Given the description of an element on the screen output the (x, y) to click on. 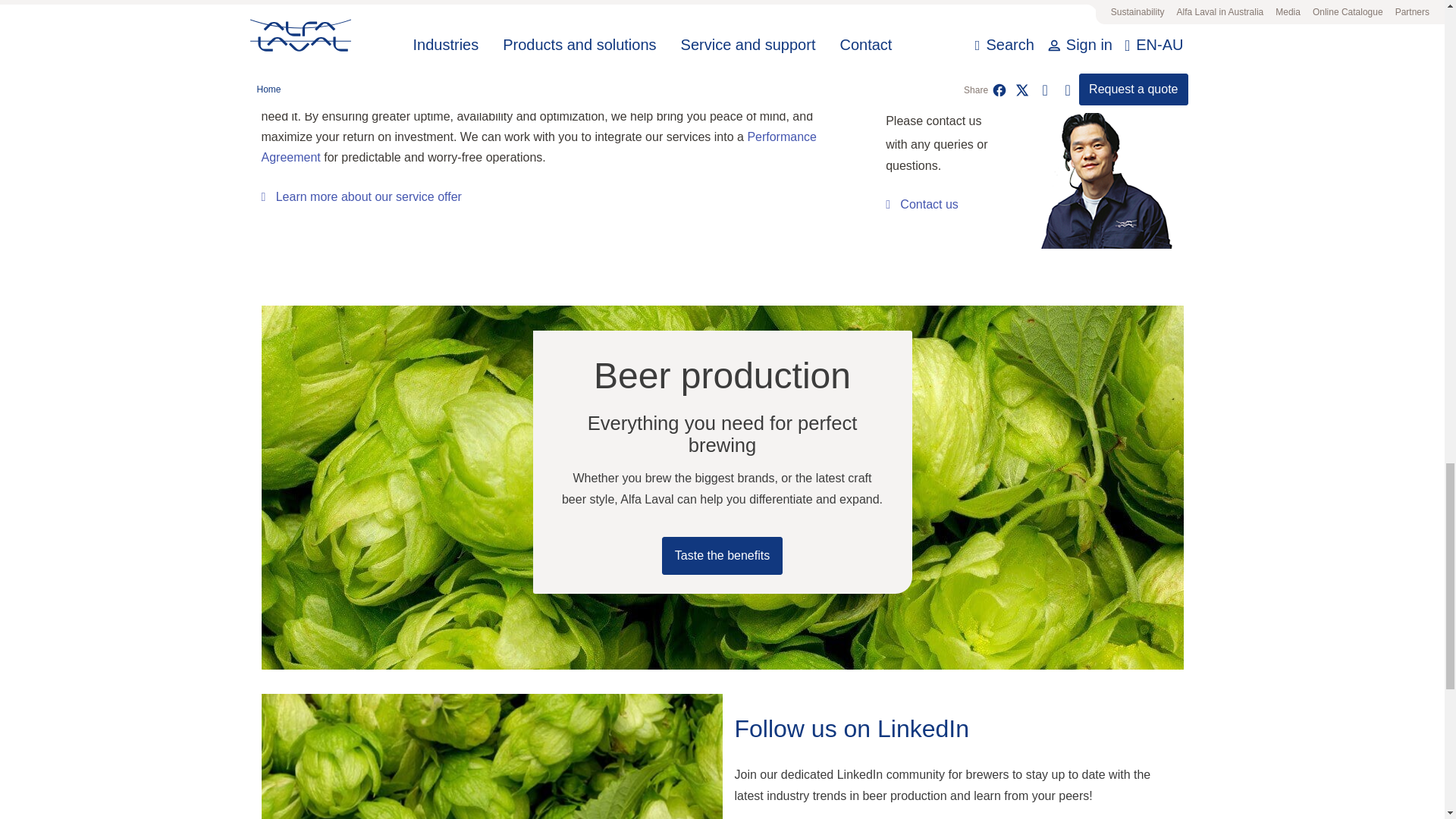
How can we help you? (1088, 181)
Learn more about our service offer (360, 196)
How can we help you? (921, 204)
Alfa Laval global service network (400, 94)
Alfa Laval Performance Agreements (537, 146)
